Given the description of an element on the screen output the (x, y) to click on. 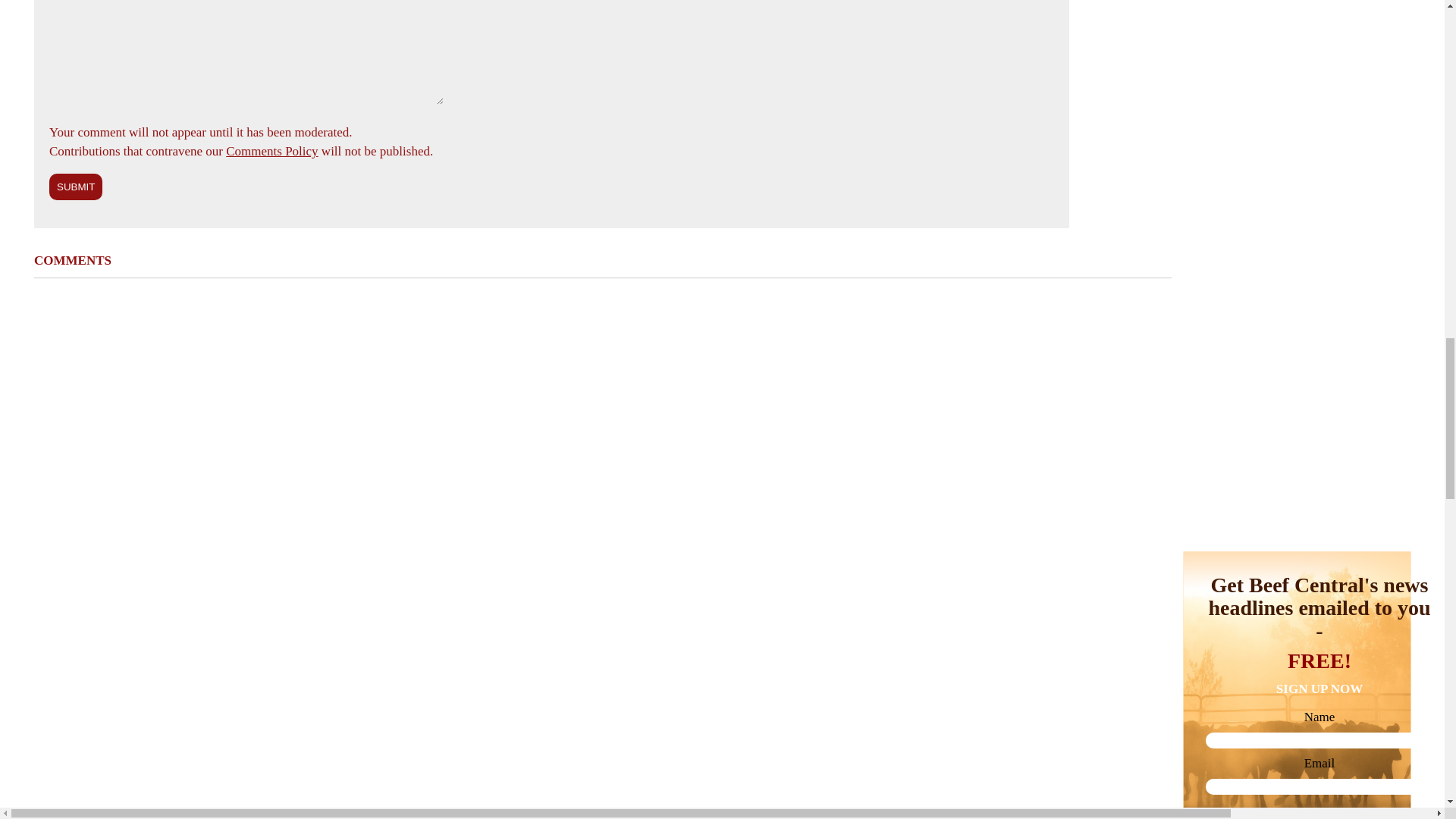
3rd party ad content (1296, 539)
SUBMIT (75, 186)
3rd party ad content (1296, 10)
3rd party ad content (1296, 130)
3rd party ad content (1296, 334)
